Given the description of an element on the screen output the (x, y) to click on. 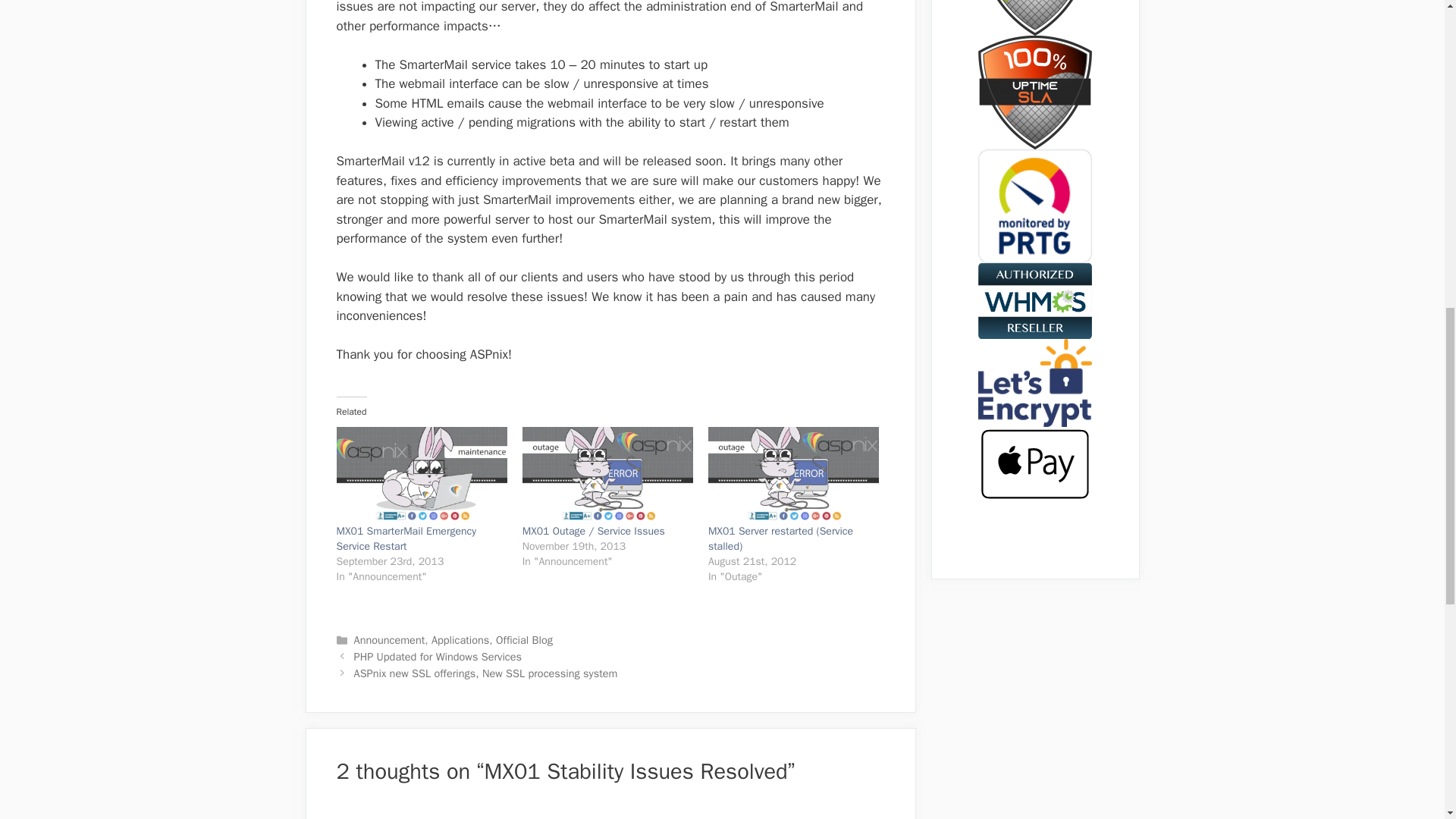
MX01 SmarterMail Emergency Service Restart (406, 538)
Announcement (389, 640)
Official Blog (524, 640)
PHP Updated for Windows Services (437, 656)
Applications (459, 640)
ASPnix new SSL offerings, New SSL processing system (485, 673)
